Given the description of an element on the screen output the (x, y) to click on. 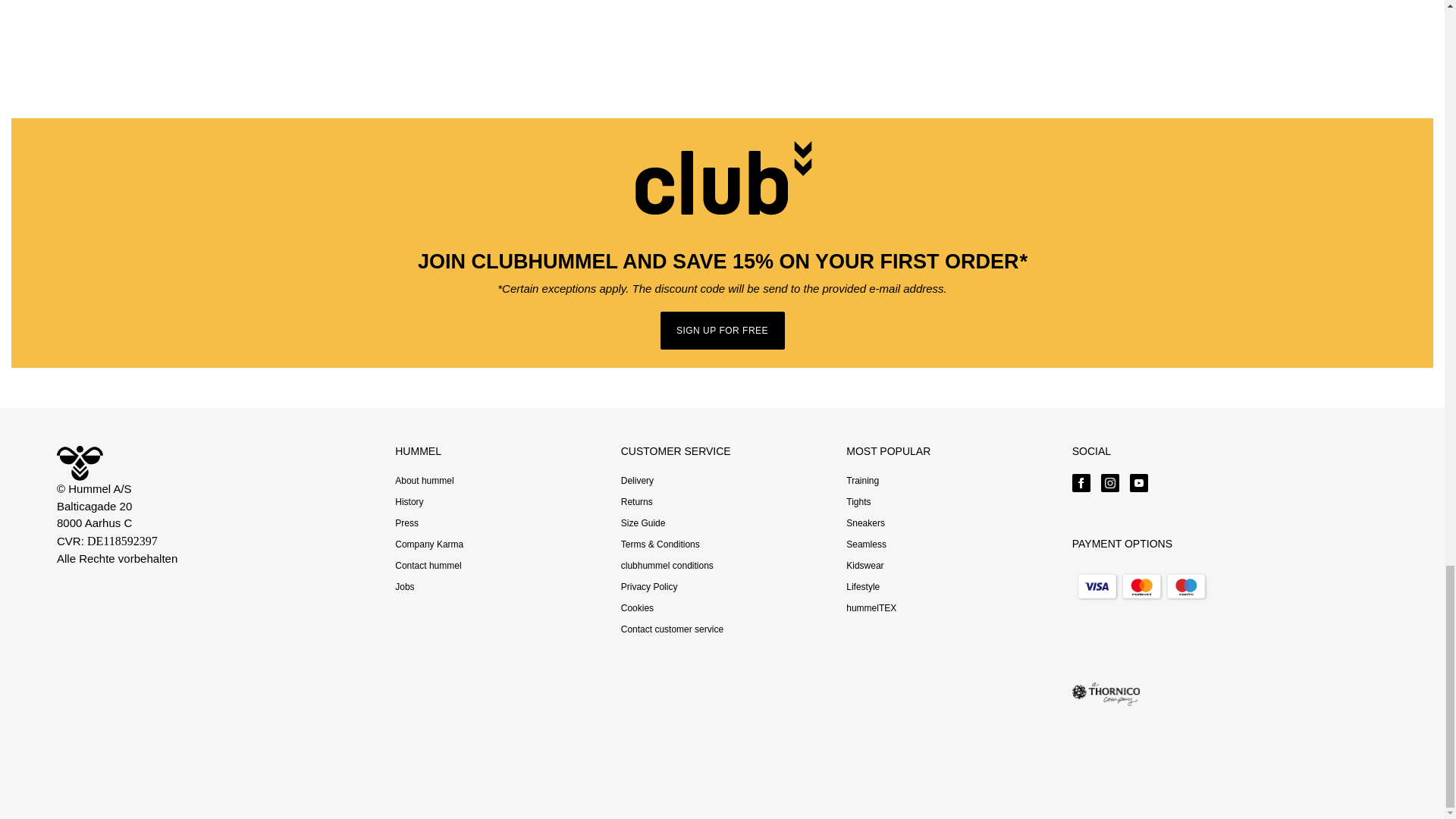
Go to Jobs (403, 586)
Go to Press (406, 522)
Go to About Hummel (423, 480)
Go to Delivery (637, 480)
Go to Company Karma (428, 543)
Go to Returns (636, 501)
Go to Size Guide (643, 522)
Go to History (408, 501)
Go to Contact (427, 565)
